Given the description of an element on the screen output the (x, y) to click on. 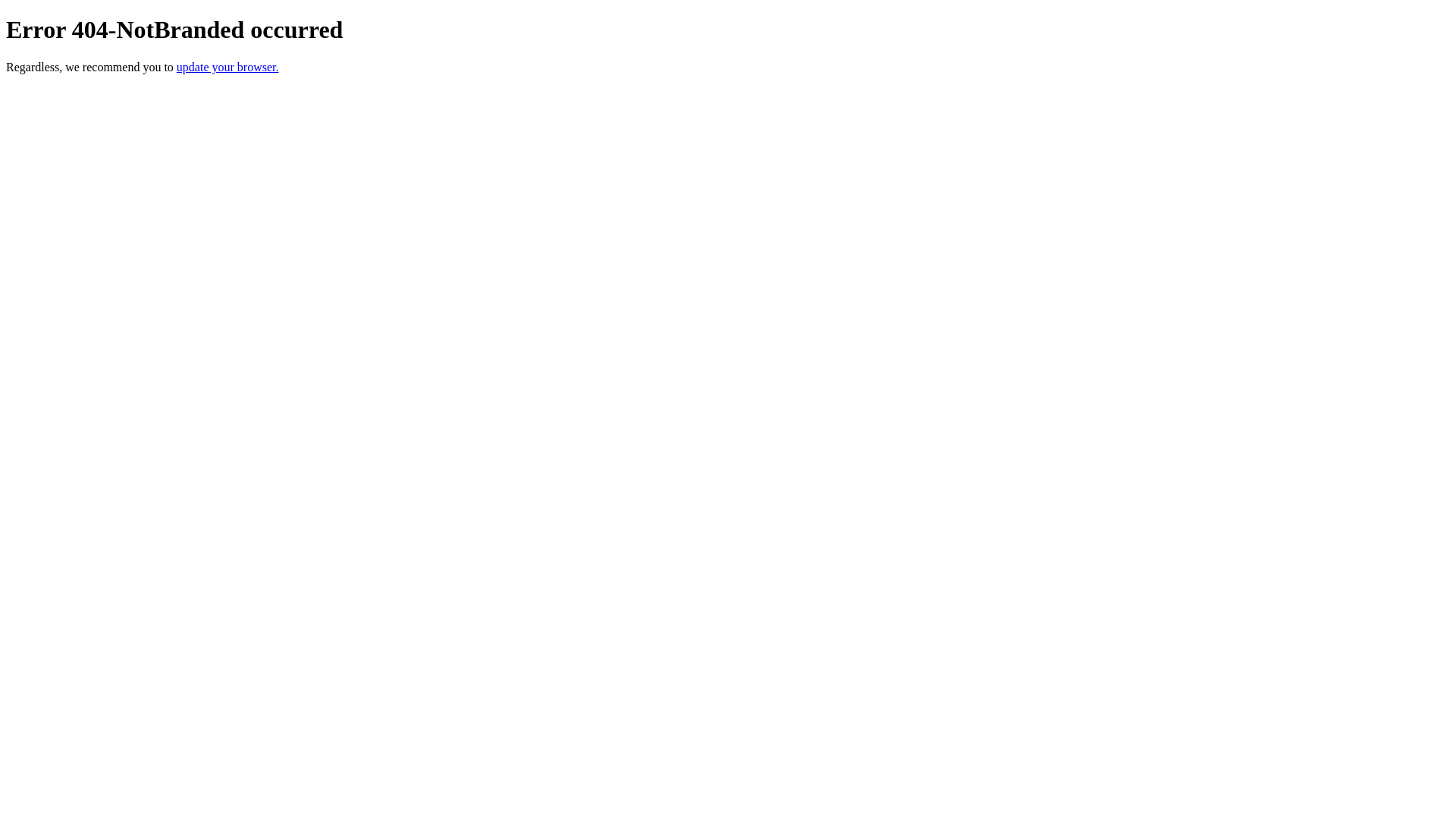
update your browser. Element type: text (227, 66)
